Given the description of an element on the screen output the (x, y) to click on. 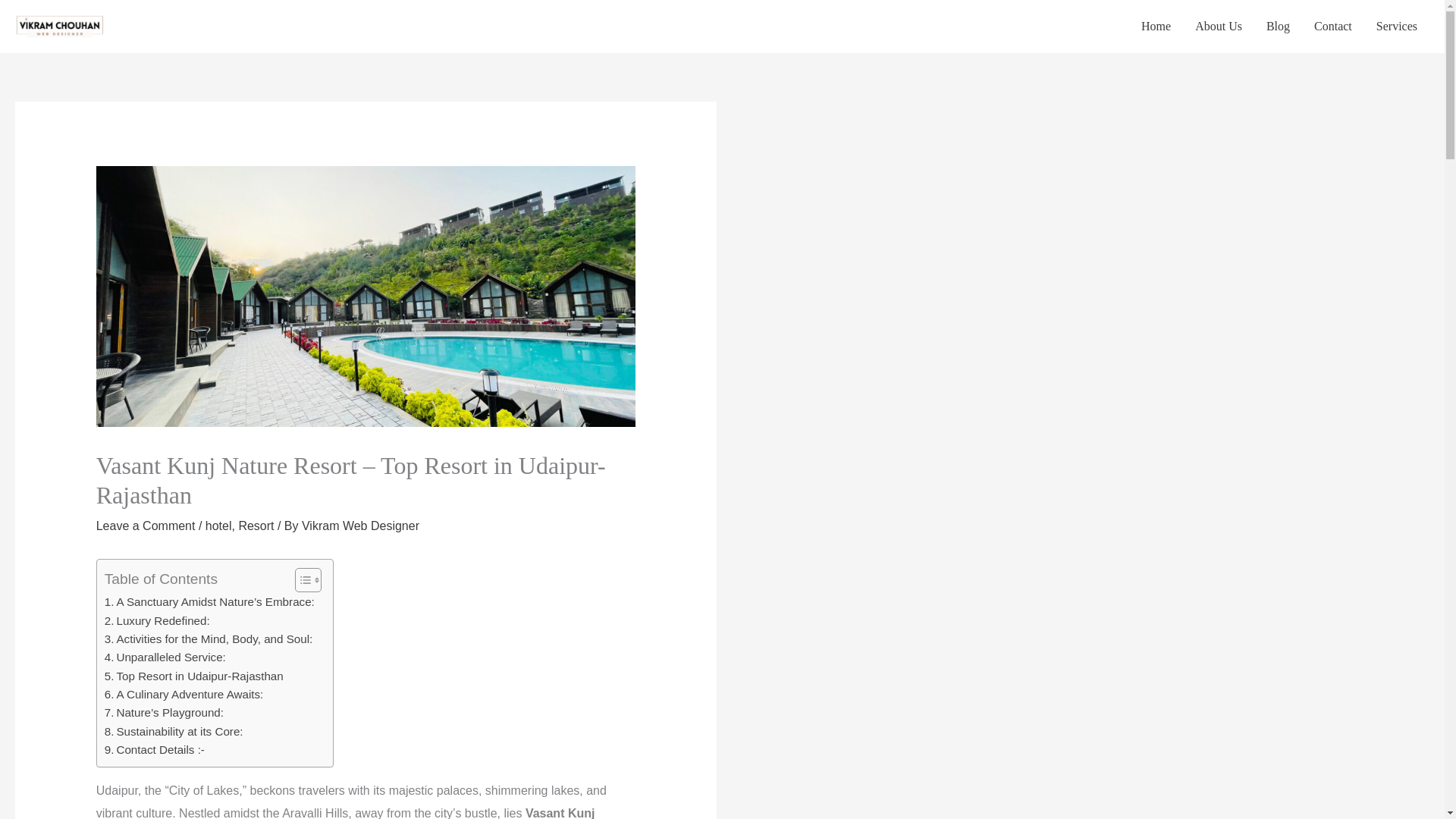
Leave a Comment (145, 525)
About Us (1217, 26)
Blog (1277, 26)
Resort (255, 525)
Contact Details :- (154, 750)
Home (1155, 26)
Luxury Redefined:  (158, 620)
Top Resort in Udaipur-Rajasthan (193, 676)
Unparalleled Service:  (166, 657)
Activities for the Mind, Body, and Soul:  (209, 638)
Vikram Web Designer (360, 525)
Contact (1332, 26)
